Given the description of an element on the screen output the (x, y) to click on. 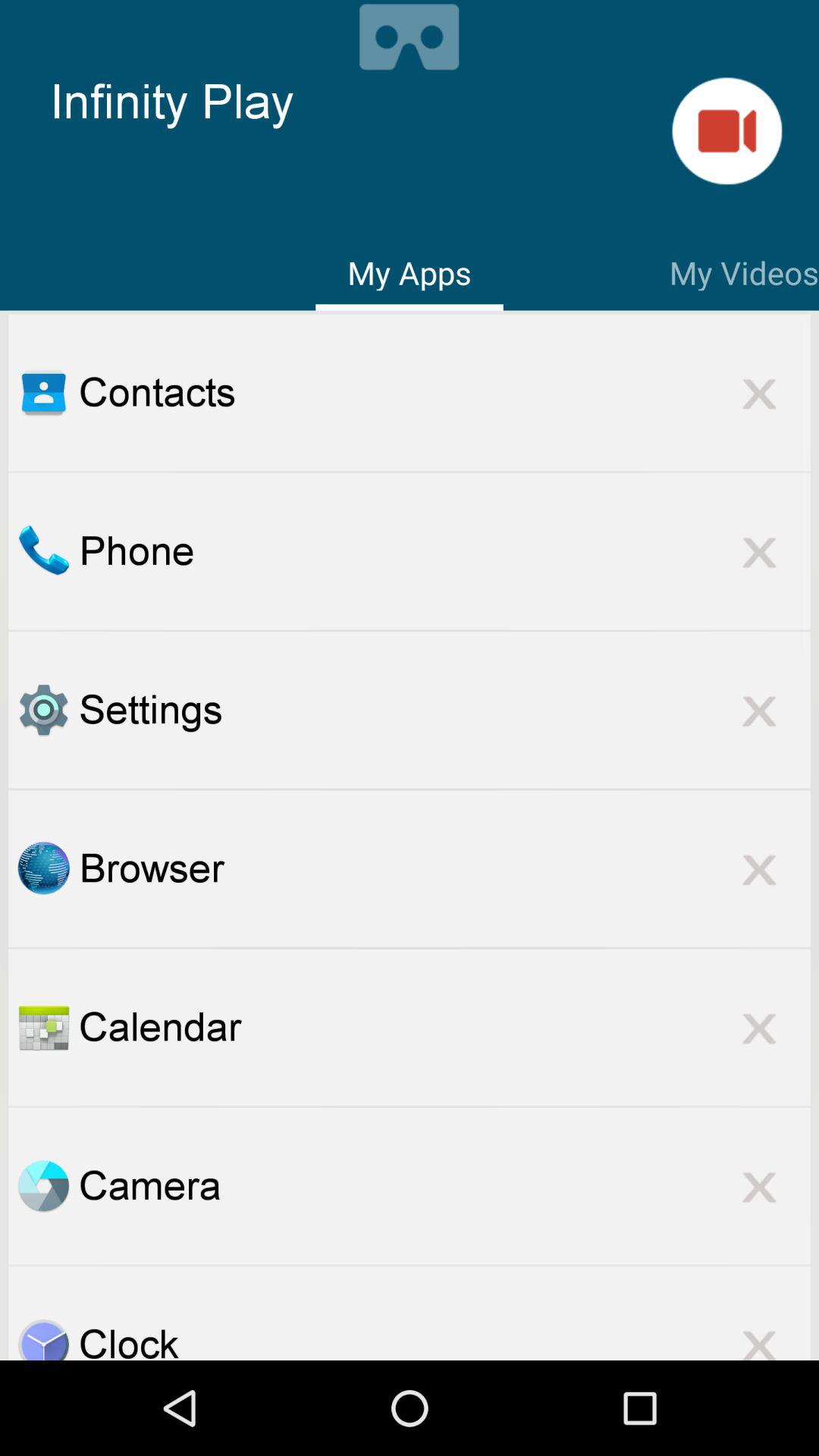
make a video call with any of the contacts (726, 130)
